Given the description of an element on the screen output the (x, y) to click on. 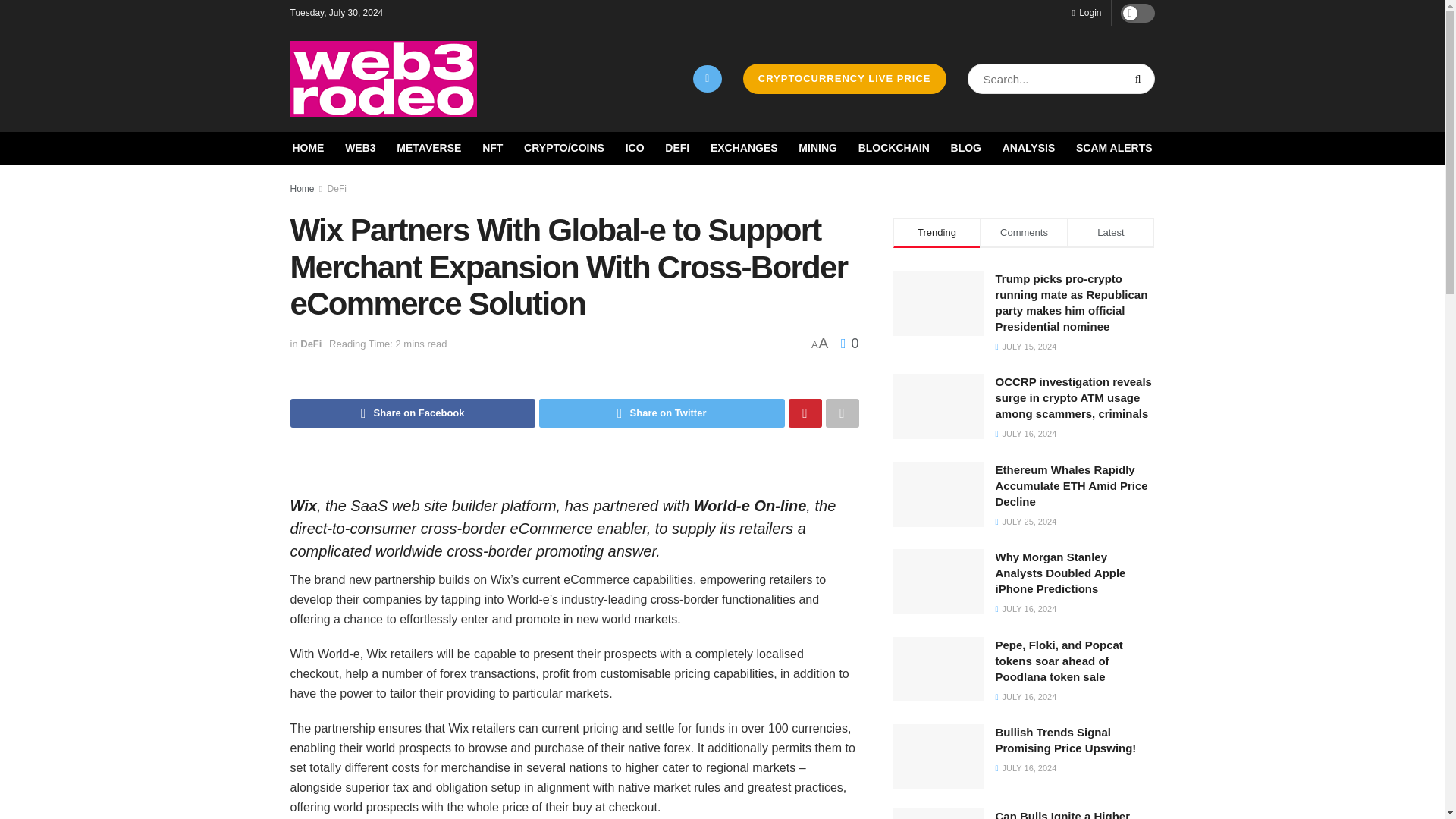
DEFI (676, 147)
EXCHANGES (743, 147)
DeFi (336, 188)
Login (1085, 12)
MINING (817, 147)
WEB3 (360, 147)
SCAM ALERTS (1114, 147)
METAVERSE (428, 147)
NFT (491, 147)
ICO (635, 147)
Home (301, 188)
BLOG (965, 147)
BLOCKCHAIN (894, 147)
HOME (307, 147)
ANALYSIS (1029, 147)
